Given the description of an element on the screen output the (x, y) to click on. 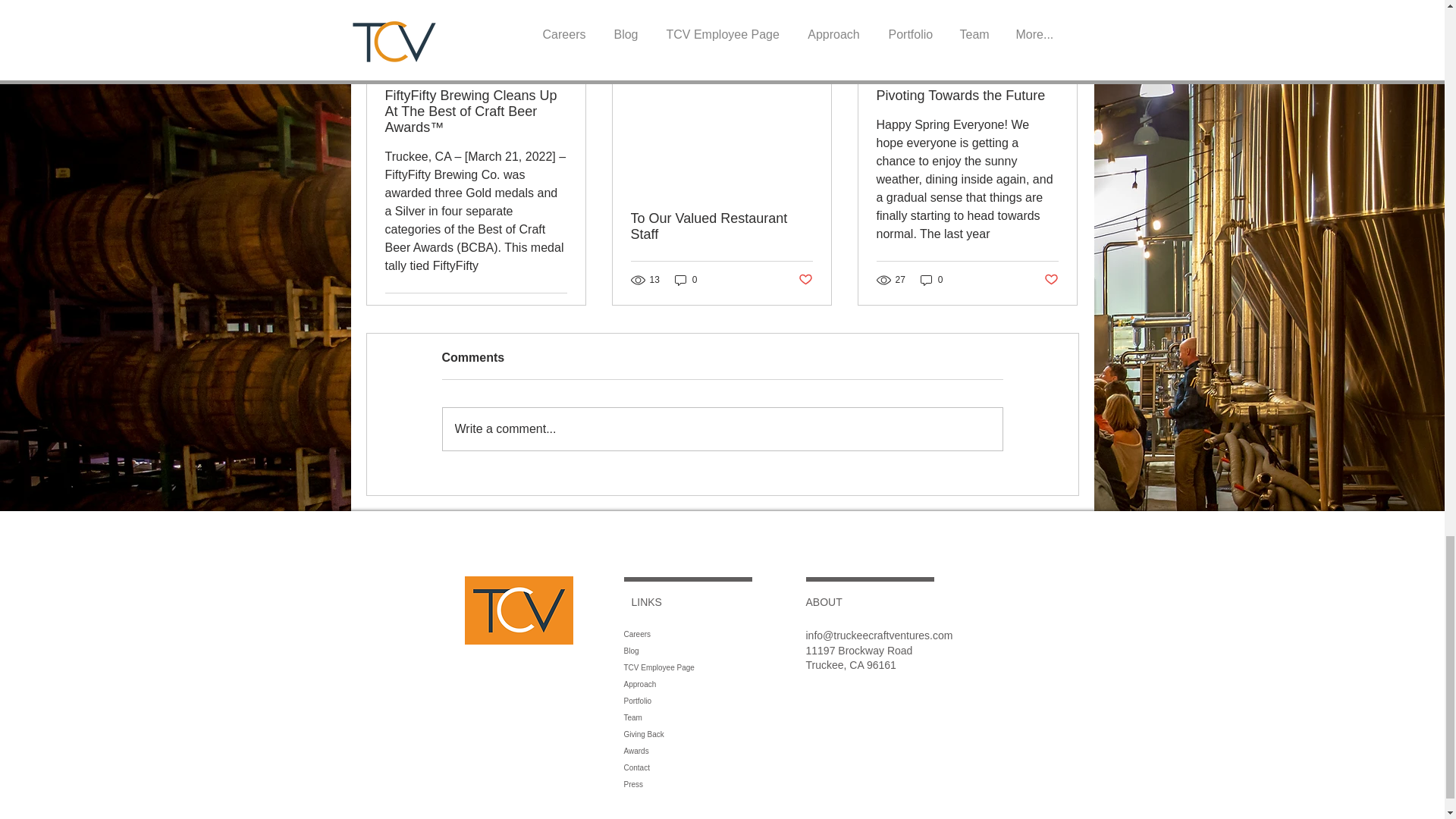
Post not marked as liked (804, 279)
Team (729, 718)
Careers (729, 634)
Pivoting Towards the Future (967, 95)
Giving Back (729, 734)
To Our Valued Restaurant Staff (721, 226)
Contact (729, 768)
Portfolio (729, 701)
0 (685, 279)
Approach (729, 684)
Post not marked as liked (558, 311)
See All (1061, 42)
Post not marked as liked (1050, 279)
Write a comment... (722, 428)
Awards (729, 751)
